Given the description of an element on the screen output the (x, y) to click on. 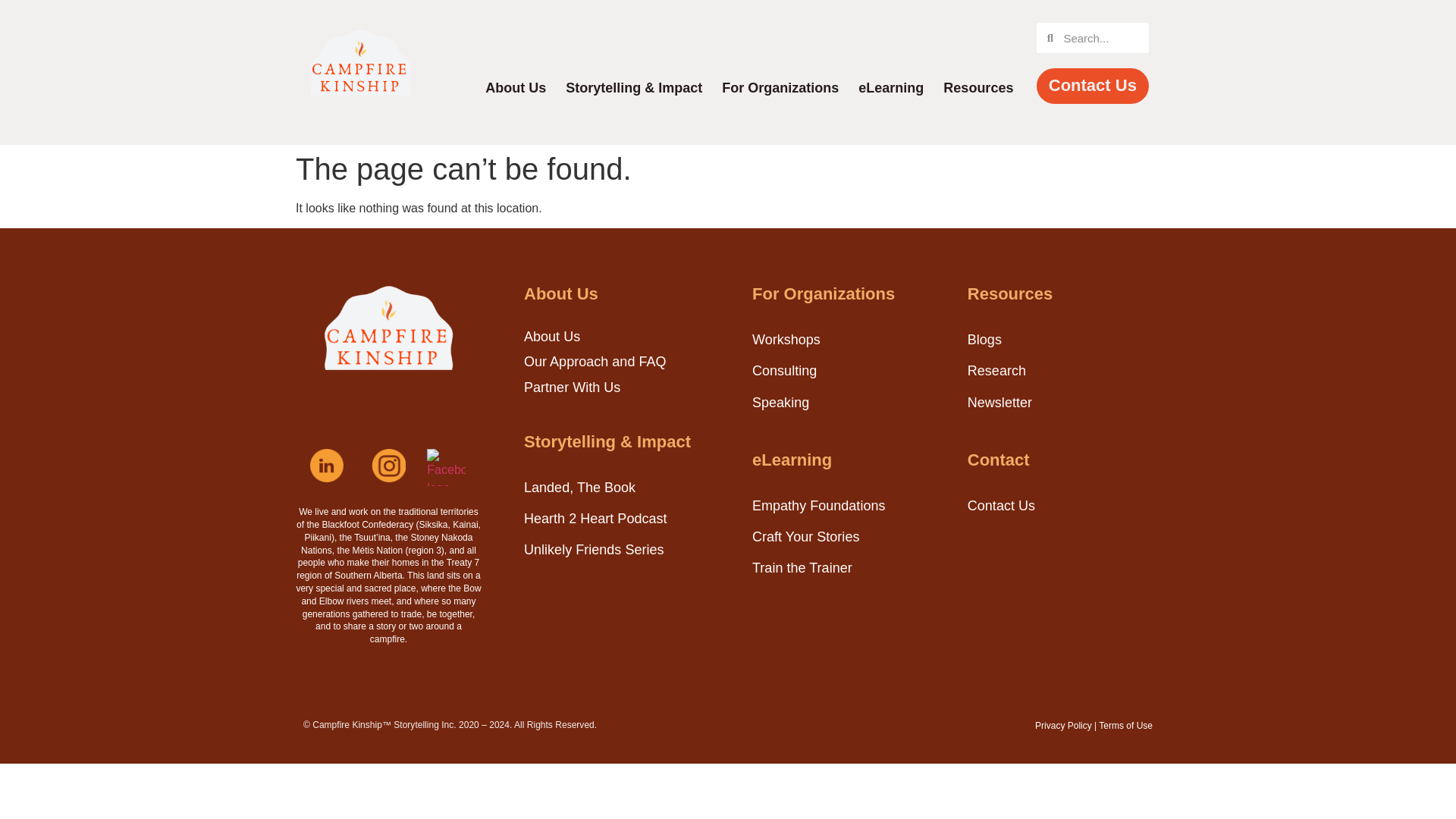
For Organizations (779, 87)
Resources (978, 87)
About Us (516, 87)
eLearning (890, 87)
